Given the description of an element on the screen output the (x, y) to click on. 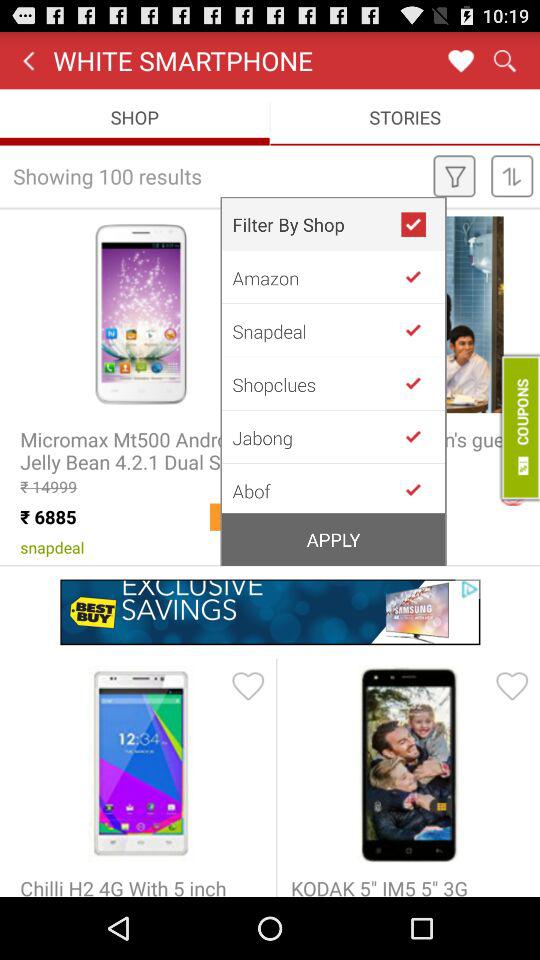
scroll until abof app (316, 489)
